Given the description of an element on the screen output the (x, y) to click on. 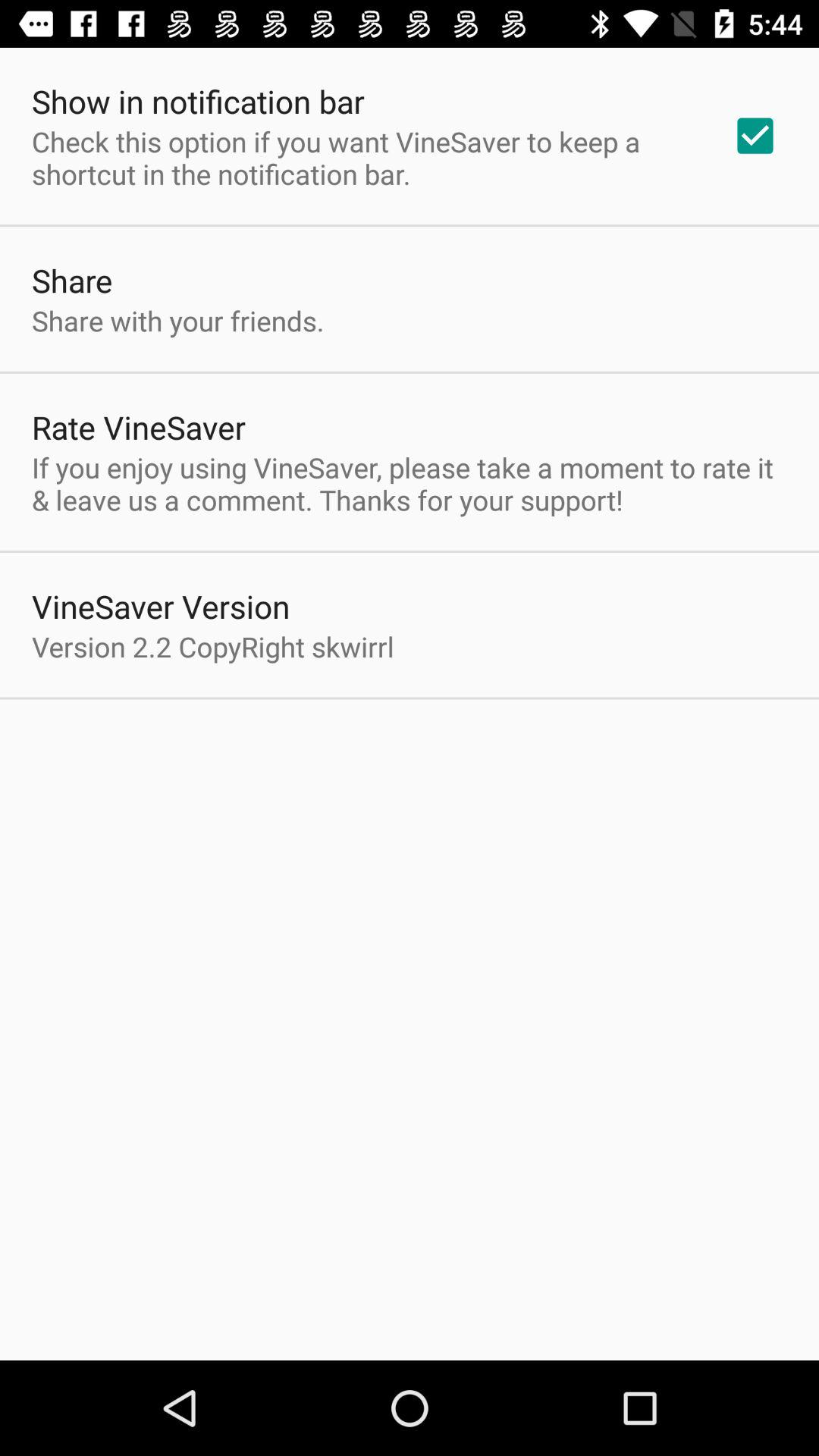
tap the version 2 2 icon (212, 646)
